Given the description of an element on the screen output the (x, y) to click on. 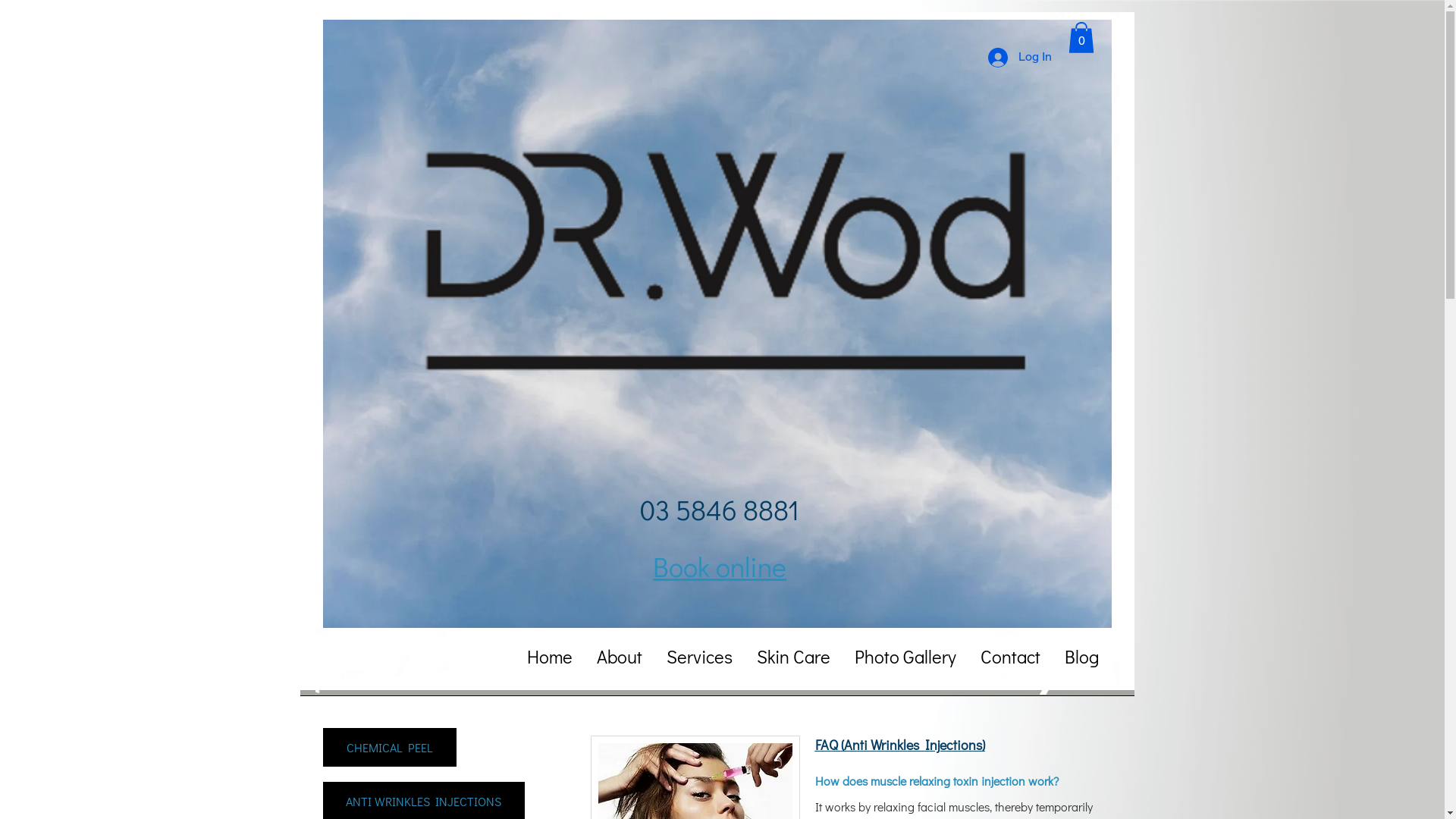
Skin Care Element type: text (793, 656)
Contact Element type: text (1009, 656)
CHEMICAL PEEL Element type: text (389, 747)
Services Element type: text (698, 656)
Photo Gallery Element type: text (904, 656)
0 Element type: text (1080, 37)
Book online Element type: text (719, 566)
Log In Element type: text (1018, 57)
Blog Element type: text (1081, 656)
Home Element type: text (548, 656)
About Element type: text (618, 656)
